Given the description of an element on the screen output the (x, y) to click on. 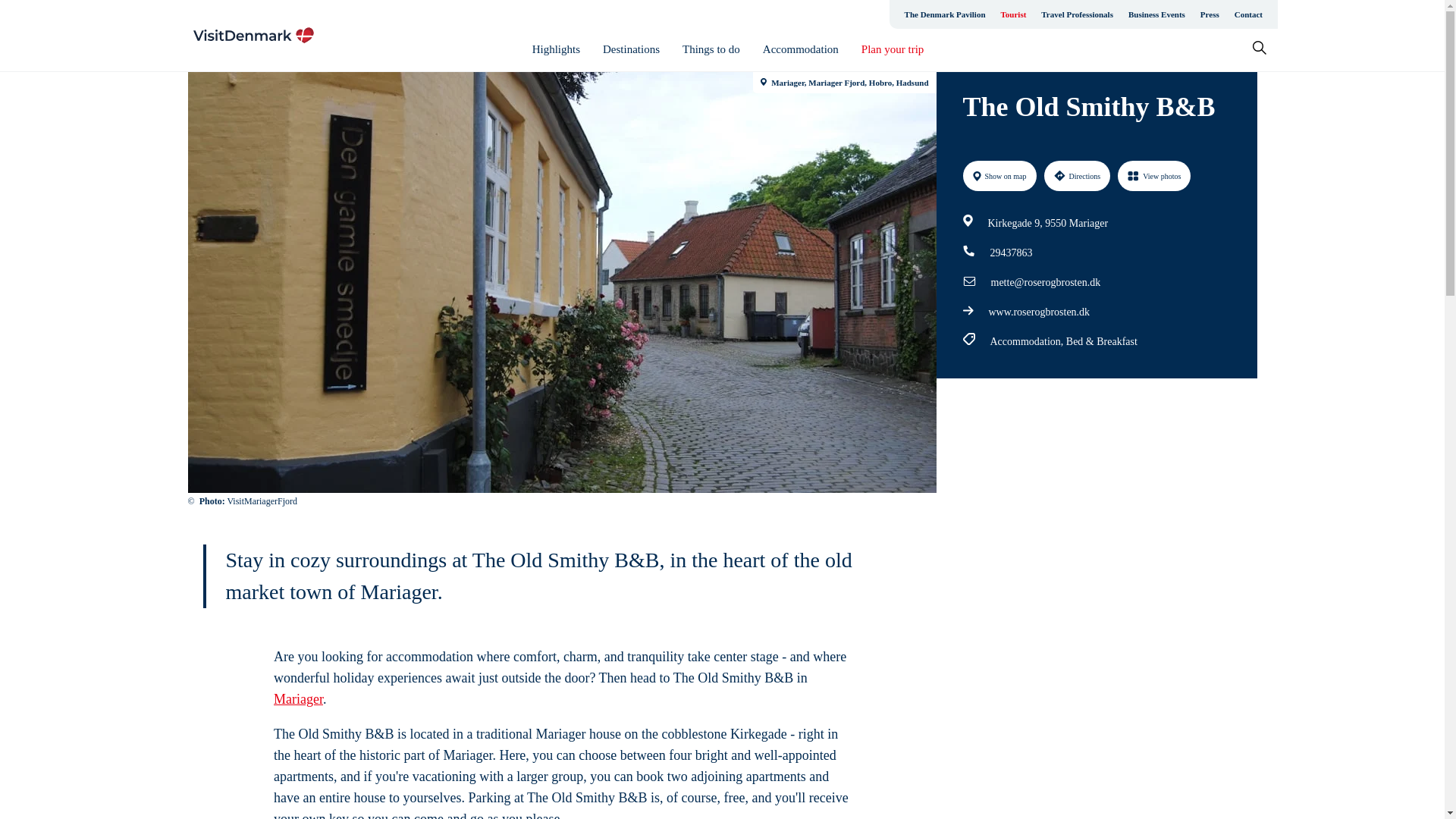
Plan your trip (892, 49)
Highlights (555, 49)
Go to homepage (253, 35)
Show on map (999, 175)
Destinations (630, 49)
The Denmark Pavilion (944, 14)
29437863 (1011, 252)
Business Events (1156, 14)
Mariager (298, 698)
Mariager, Mariager Fjord, Hobro, Hadsund (844, 82)
